Given the description of an element on the screen output the (x, y) to click on. 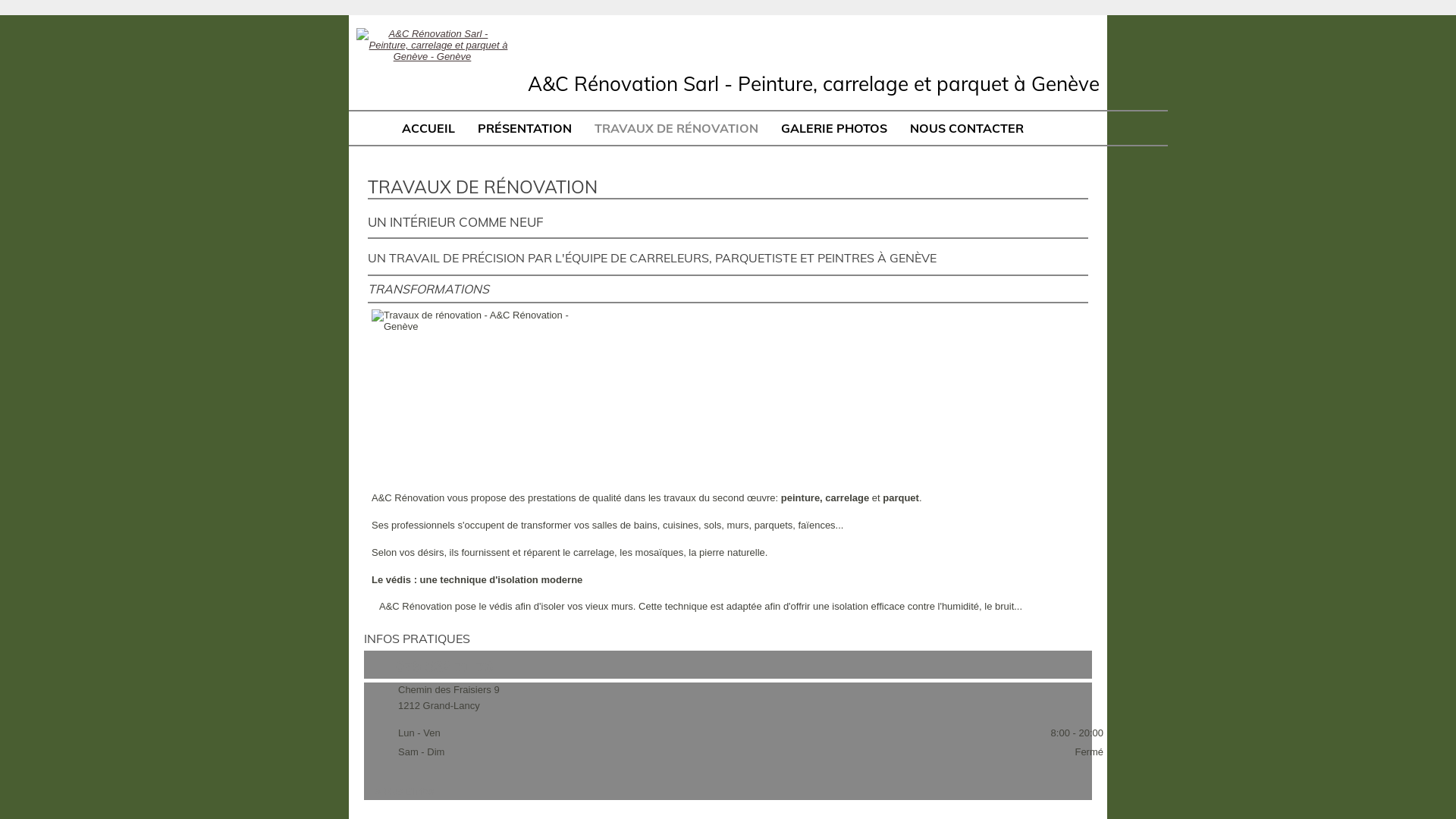
NOUS CONTACTER Element type: text (966, 127)
ACCUEIL Element type: text (428, 127)
GALERIE PHOTOS Element type: text (833, 127)
079 532 71 76 Element type: text (443, 666)
